Given the description of an element on the screen output the (x, y) to click on. 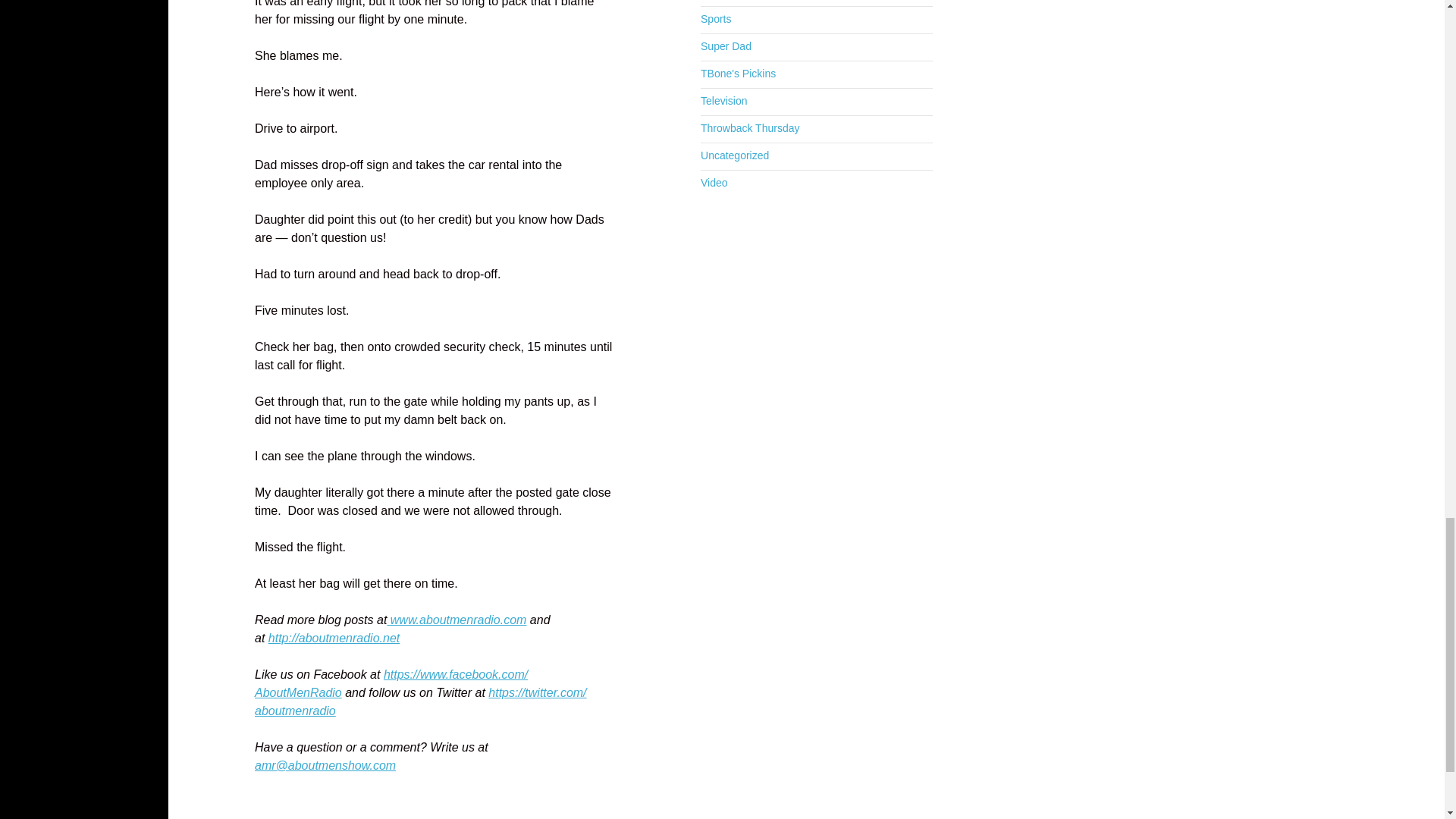
 www.aboutmenradio.com (456, 619)
